Given the description of an element on the screen output the (x, y) to click on. 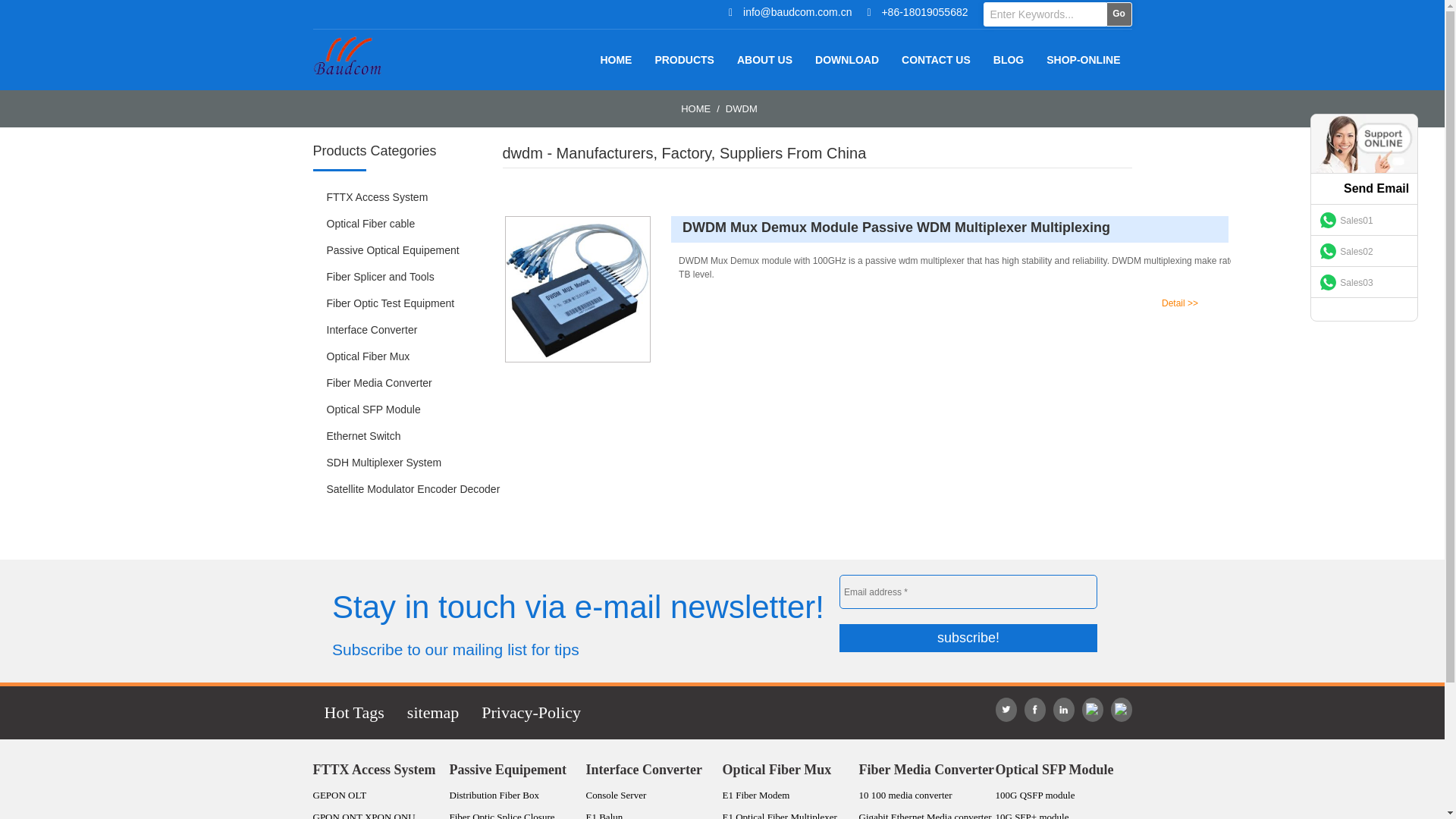
Passive Optical Equipement (406, 250)
Go (1118, 14)
subscribe! (968, 637)
PRODUCTS (683, 59)
Optical Fiber cable (406, 223)
HOME (695, 108)
Email address (968, 591)
Fiber Optic Test Equipment (406, 303)
Enter Keywords... (1043, 14)
SHOP-ONLINE (1082, 59)
